Given the description of an element on the screen output the (x, y) to click on. 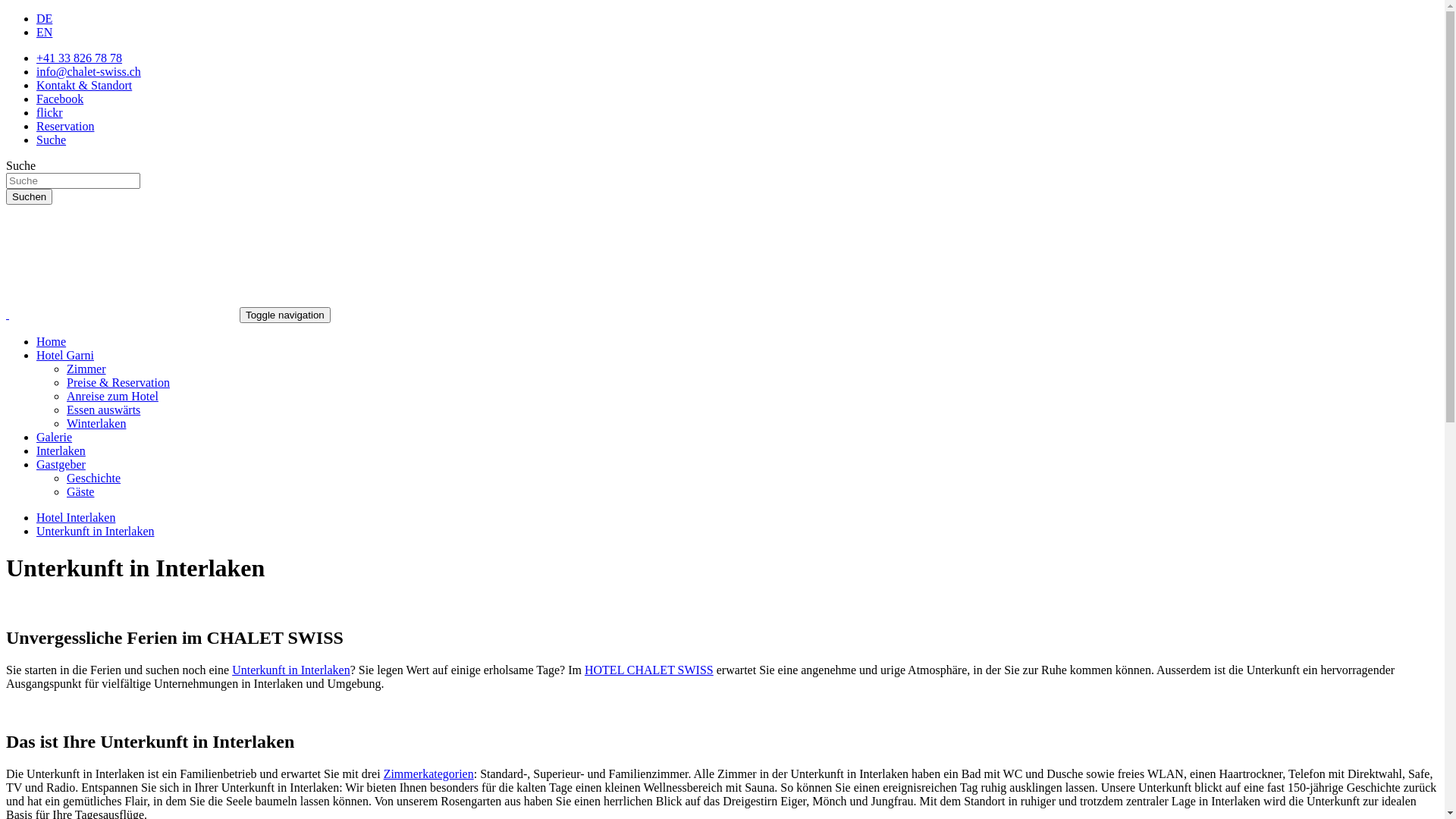
Hotel Interlaken Element type: text (75, 517)
HOTEL CHALET SWISS Element type: text (648, 669)
Zimmer Element type: text (86, 368)
Zimmerkategorien Element type: text (428, 773)
Suchen Element type: text (29, 196)
Winterlaken Element type: text (95, 423)
+41 33 826 78 78 Element type: text (79, 57)
Hotel Garni Element type: text (65, 354)
DE Element type: text (44, 18)
Anreise zum Hotel Element type: text (112, 395)
Home Element type: text (50, 341)
Suche Element type: text (50, 139)
Facebook Element type: text (59, 98)
Toggle navigation Element type: text (284, 315)
Galerie Element type: text (54, 436)
Unterkunft in Interlaken Element type: text (291, 669)
EN Element type: text (44, 31)
Kontakt & Standort Element type: text (83, 84)
Interlaken Element type: text (60, 450)
info@chalet-swiss.ch Element type: text (88, 71)
Geschichte Element type: text (93, 477)
Reservation Element type: text (65, 125)
flickr Element type: text (49, 112)
Unterkunft in Interlaken Element type: text (95, 530)
Gastgeber Element type: text (60, 464)
Preise & Reservation Element type: text (117, 382)
